Given the description of an element on the screen output the (x, y) to click on. 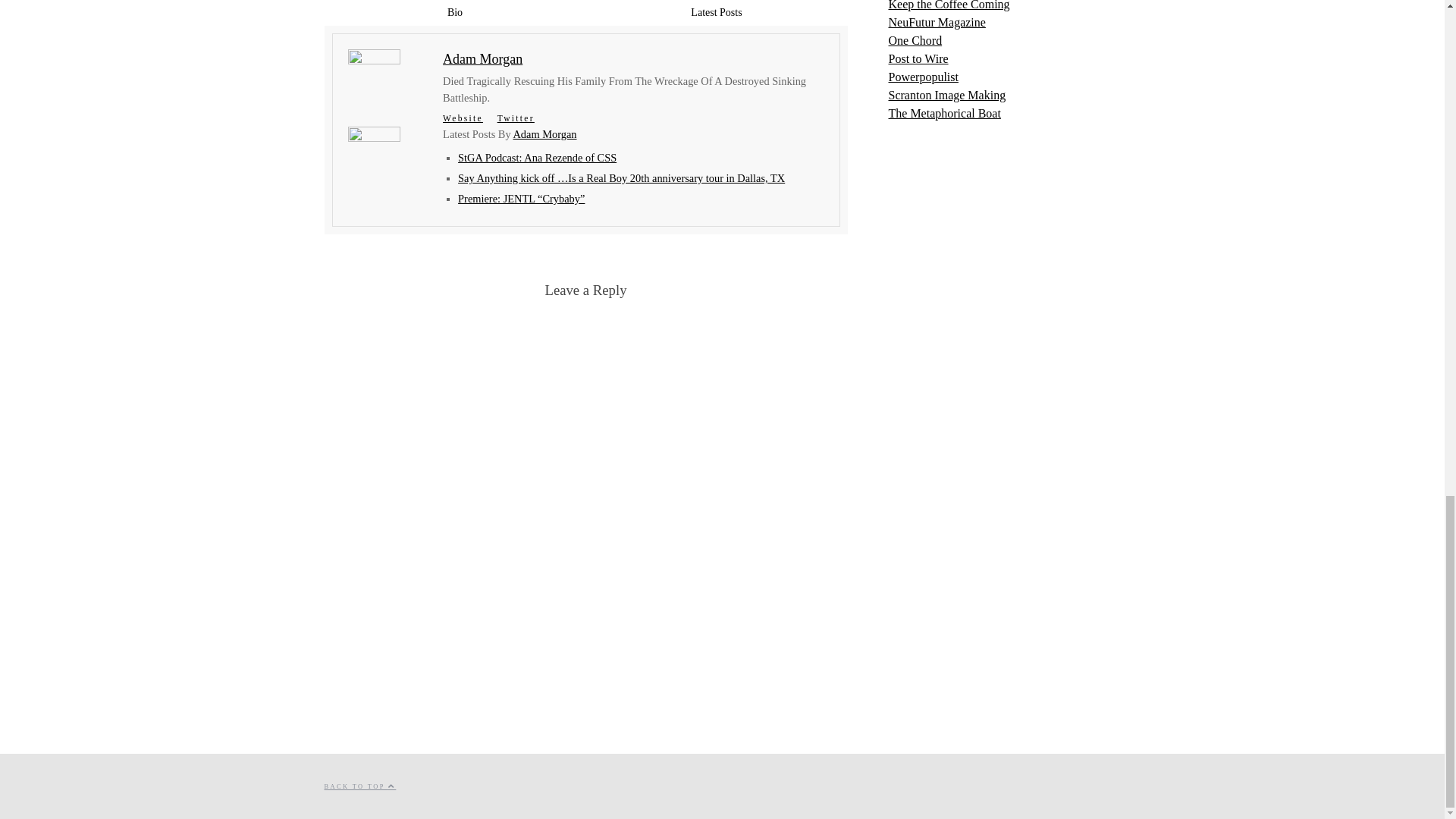
Latest Posts (716, 13)
Adam Morgan (482, 58)
StGA Podcast: Ana Rezende of CSS (536, 157)
Bio (455, 13)
Adam Morgan (544, 133)
Twitter (515, 117)
Website (462, 117)
